Given the description of an element on the screen output the (x, y) to click on. 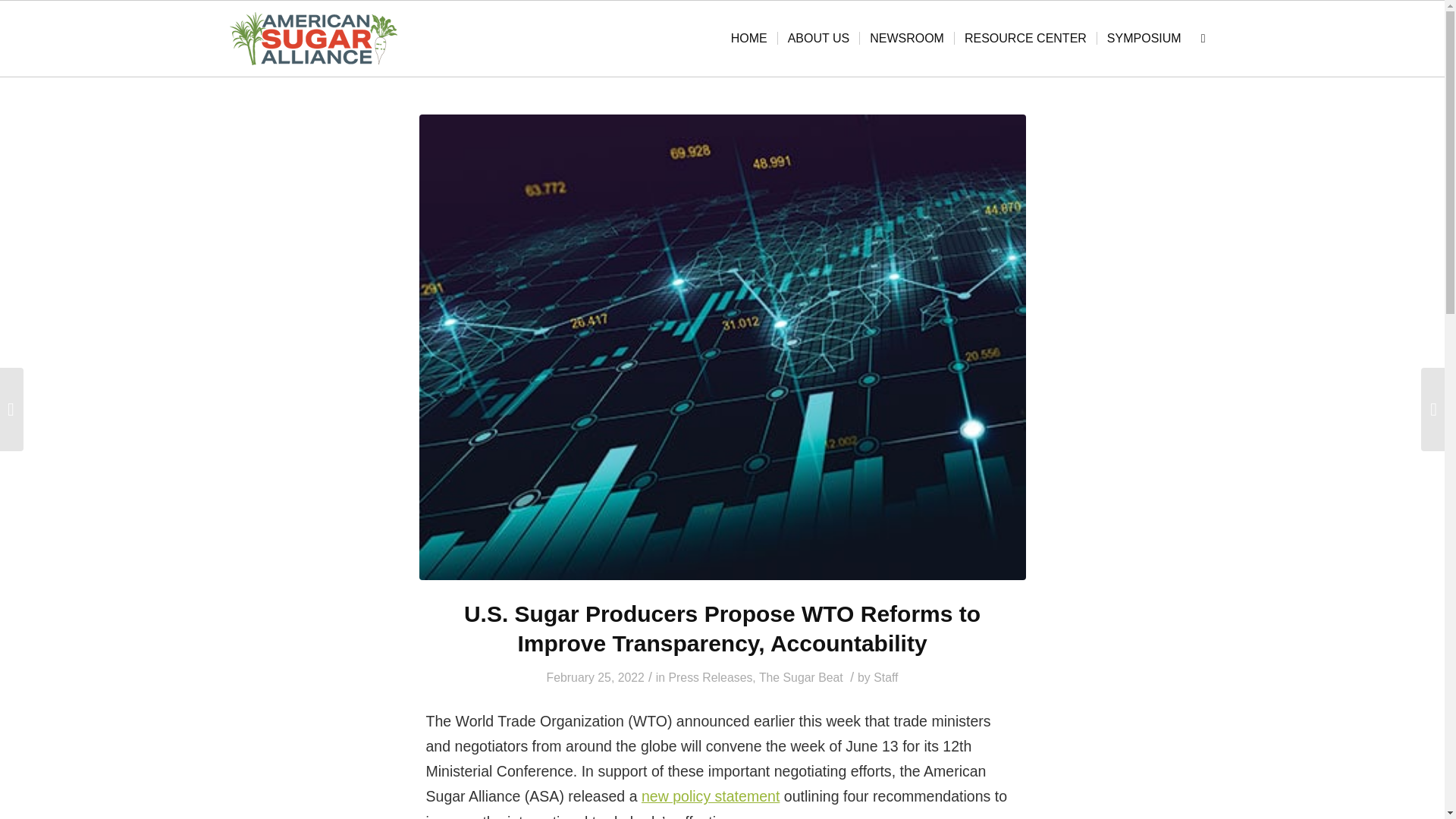
new policy statement (710, 795)
Press Releases (710, 676)
RESOURCE CENTER (1024, 38)
SYMPOSIUM (1143, 38)
NEWSROOM (906, 38)
The Sugar Beat (800, 676)
ABOUT US (818, 38)
Staff (885, 676)
Posts by Staff (885, 676)
